Given the description of an element on the screen output the (x, y) to click on. 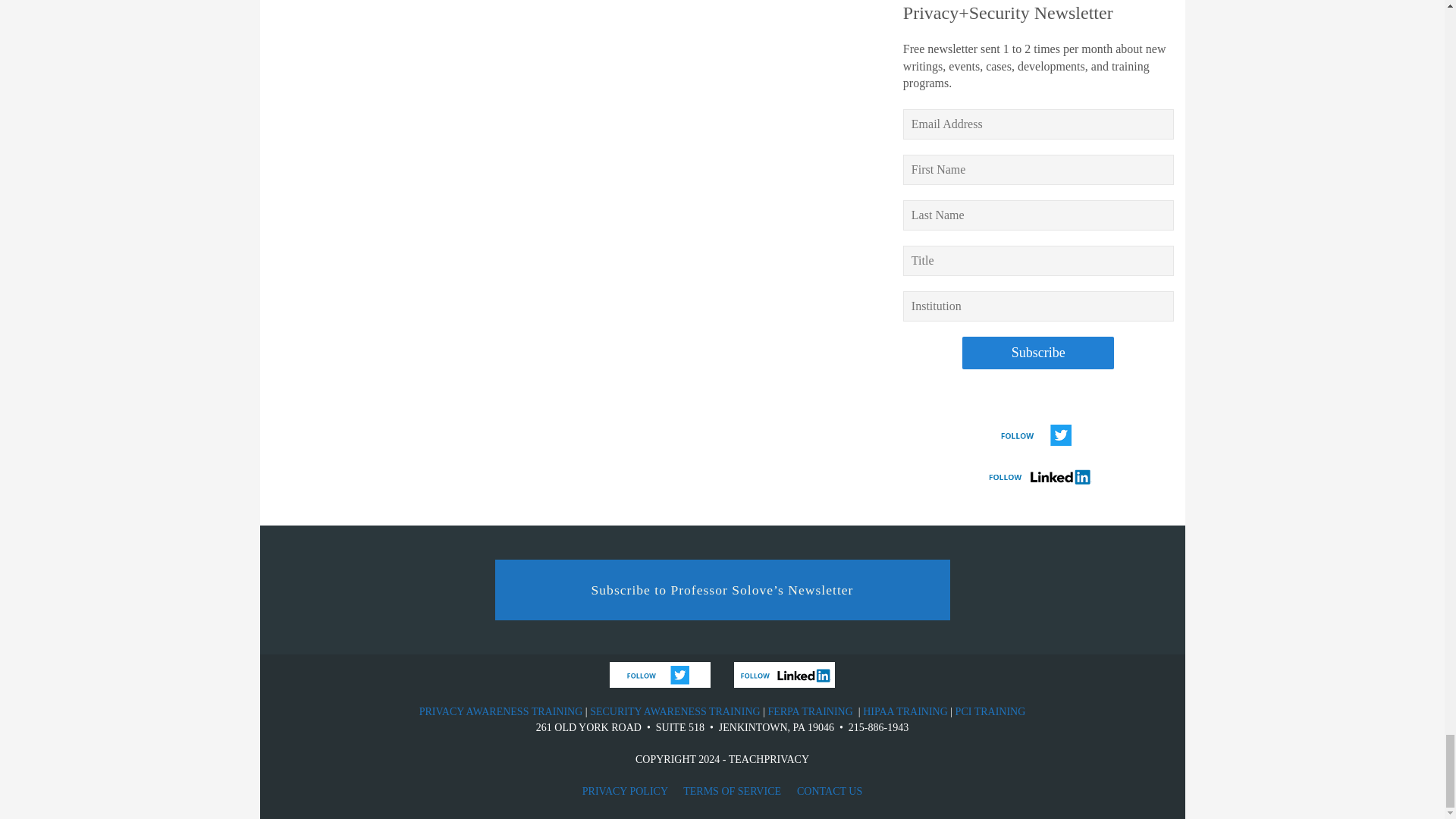
Subscribe (1037, 352)
